Given the description of an element on the screen output the (x, y) to click on. 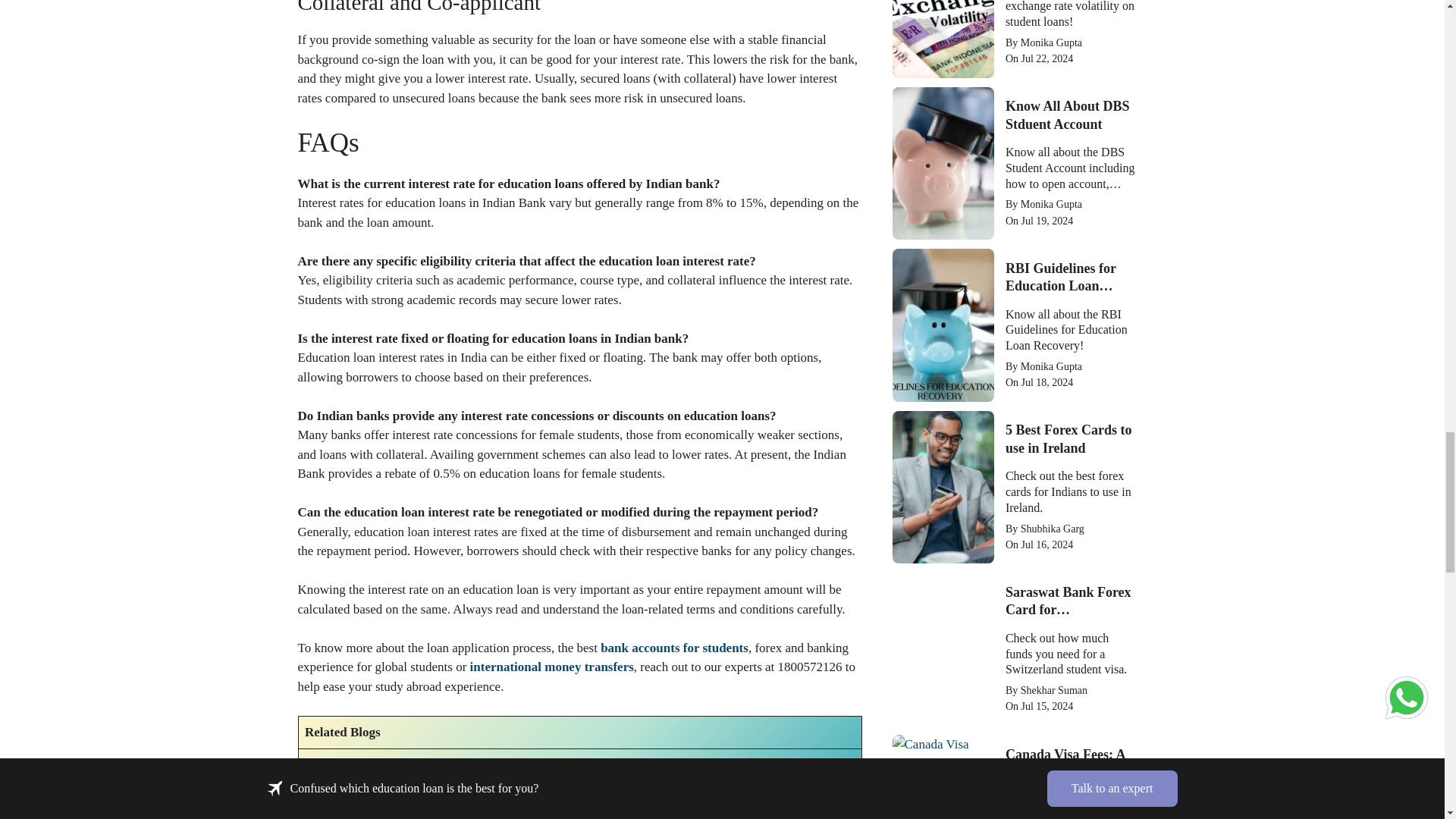
international money transfers (551, 667)
Union Bank Education Loan Disbursement Process (445, 765)
ICICI Bank Education Loan Disbursement Process (445, 798)
bank accounts for students (673, 647)
